Given the description of an element on the screen output the (x, y) to click on. 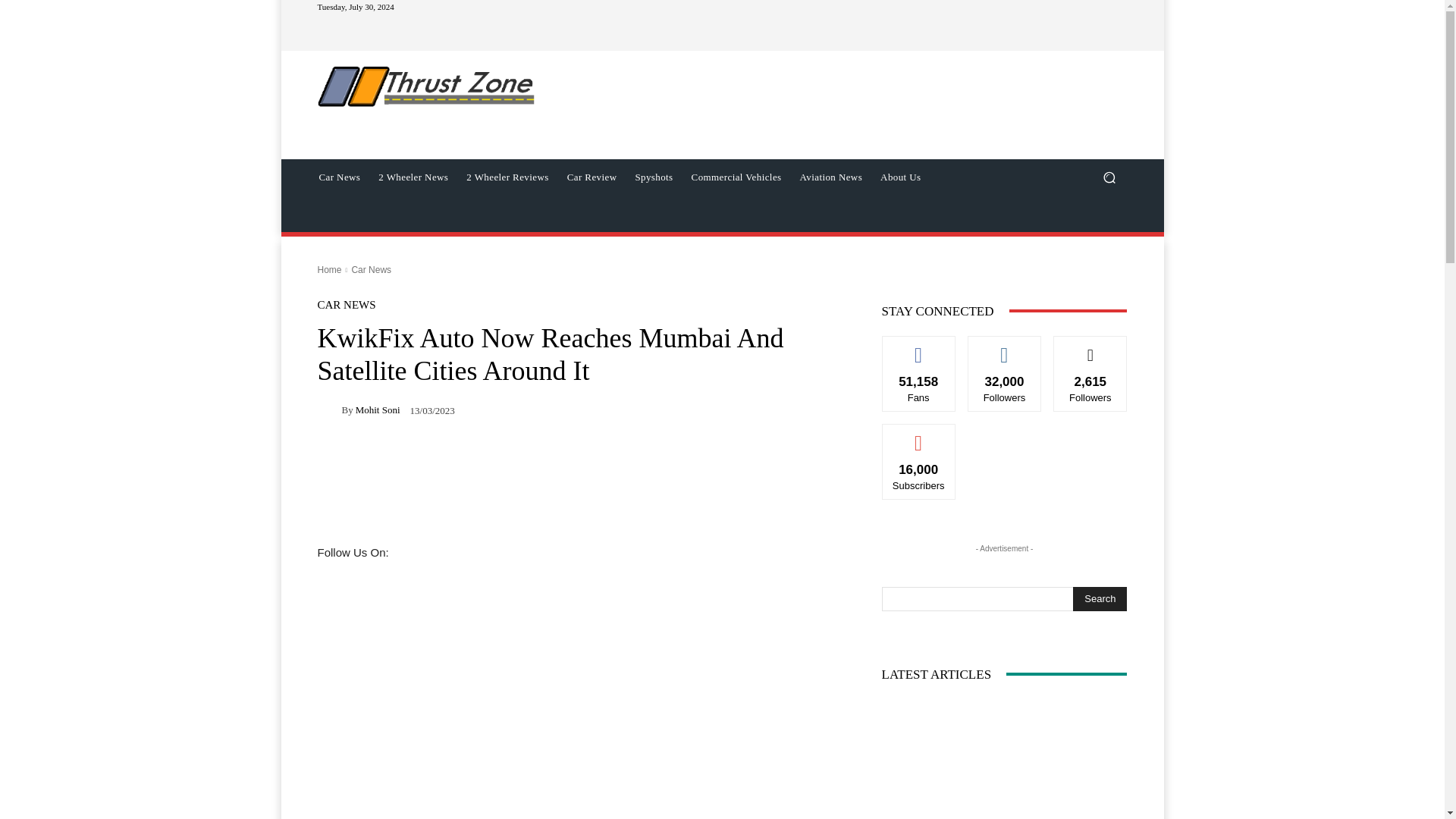
2 Wheeler Reviews (507, 176)
Car News (338, 176)
About Us (900, 176)
Home (328, 269)
Mohit Soni (328, 409)
Commercial Vehicles (736, 176)
Car Review (591, 176)
Spyshots (653, 176)
Mohit Soni (377, 409)
Aviation News (831, 176)
2 Wheeler News (413, 176)
Car News (370, 269)
CAR NEWS (346, 305)
View all posts in Car News (370, 269)
